Given the description of an element on the screen output the (x, y) to click on. 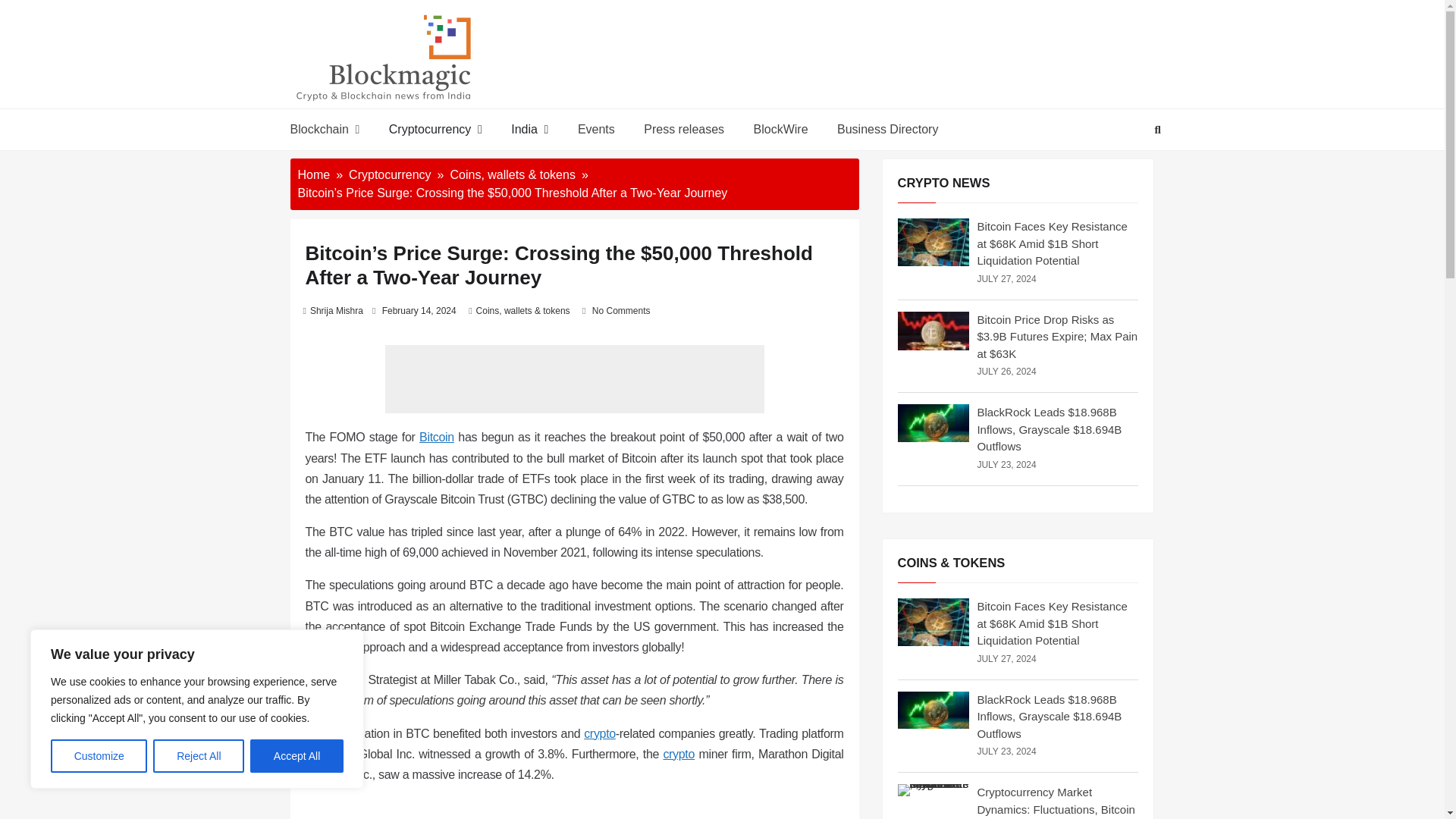
Accept All (296, 756)
Advertisement (574, 378)
Reject All (198, 756)
Customize (98, 756)
give any dummy title (436, 436)
